Given the description of an element on the screen output the (x, y) to click on. 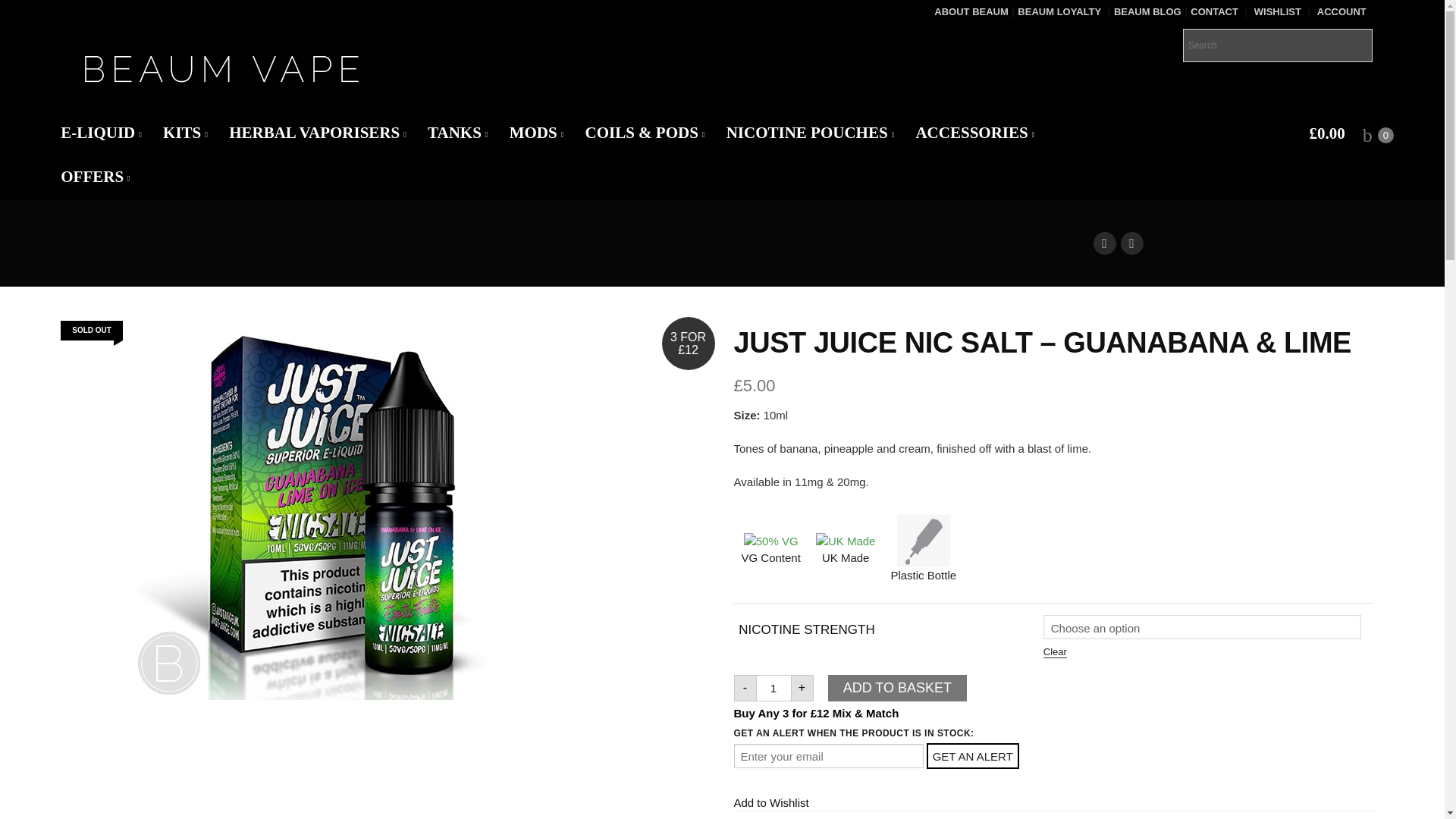
BEAUM LOYALTY (1058, 11)
kits (185, 134)
ACCOUNT (1342, 11)
View your shopping cart (1337, 134)
Qty (773, 687)
WISHLIST (1277, 11)
ABOUT BEAUM (971, 11)
CONTACT (1215, 11)
E-LIQUID (101, 134)
1 (773, 687)
BEAUM BLOG (1146, 11)
